Given the description of an element on the screen output the (x, y) to click on. 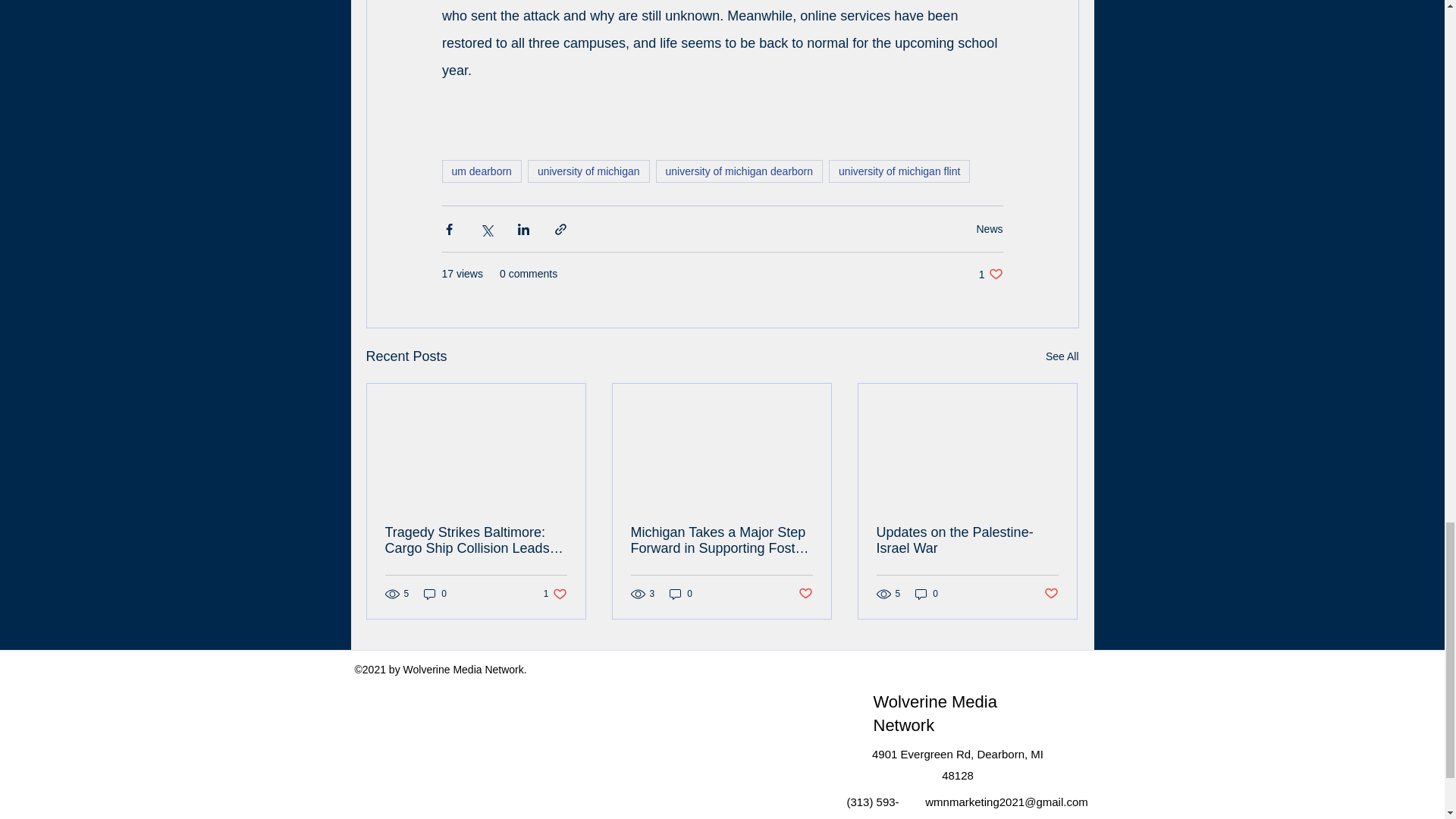
0 (435, 594)
um dearborn (481, 170)
university of michigan (555, 594)
university of michigan dearborn (588, 170)
See All (740, 170)
0 (1061, 356)
university of michigan flint (681, 594)
News (990, 273)
